Given the description of an element on the screen output the (x, y) to click on. 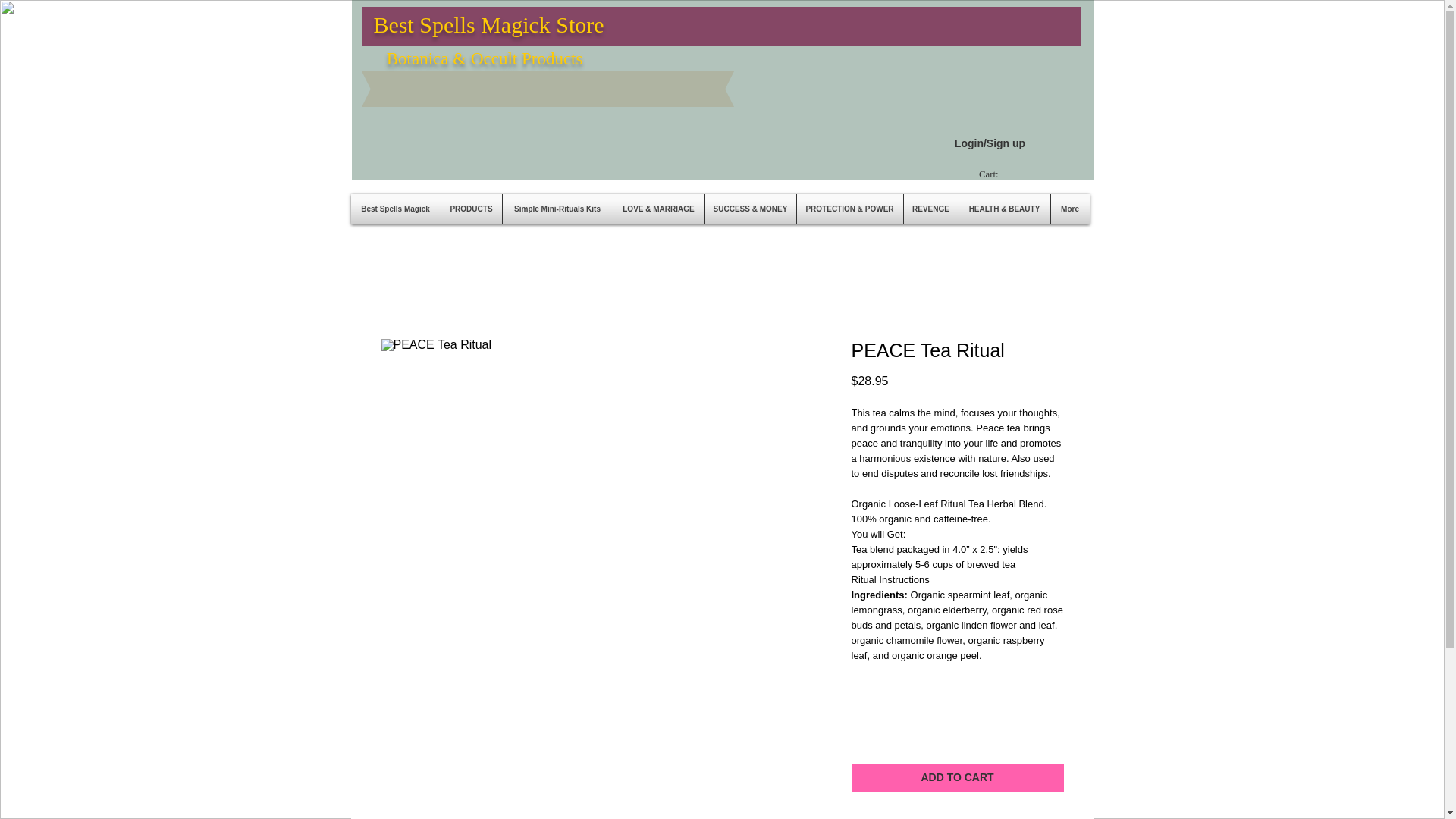
PRODUCTS (471, 209)
REVENGE (931, 209)
Cart: (996, 173)
Cart: (996, 173)
Best Spells Magick (394, 209)
Simple Mini-Rituals Kits (556, 209)
